Given the description of an element on the screen output the (x, y) to click on. 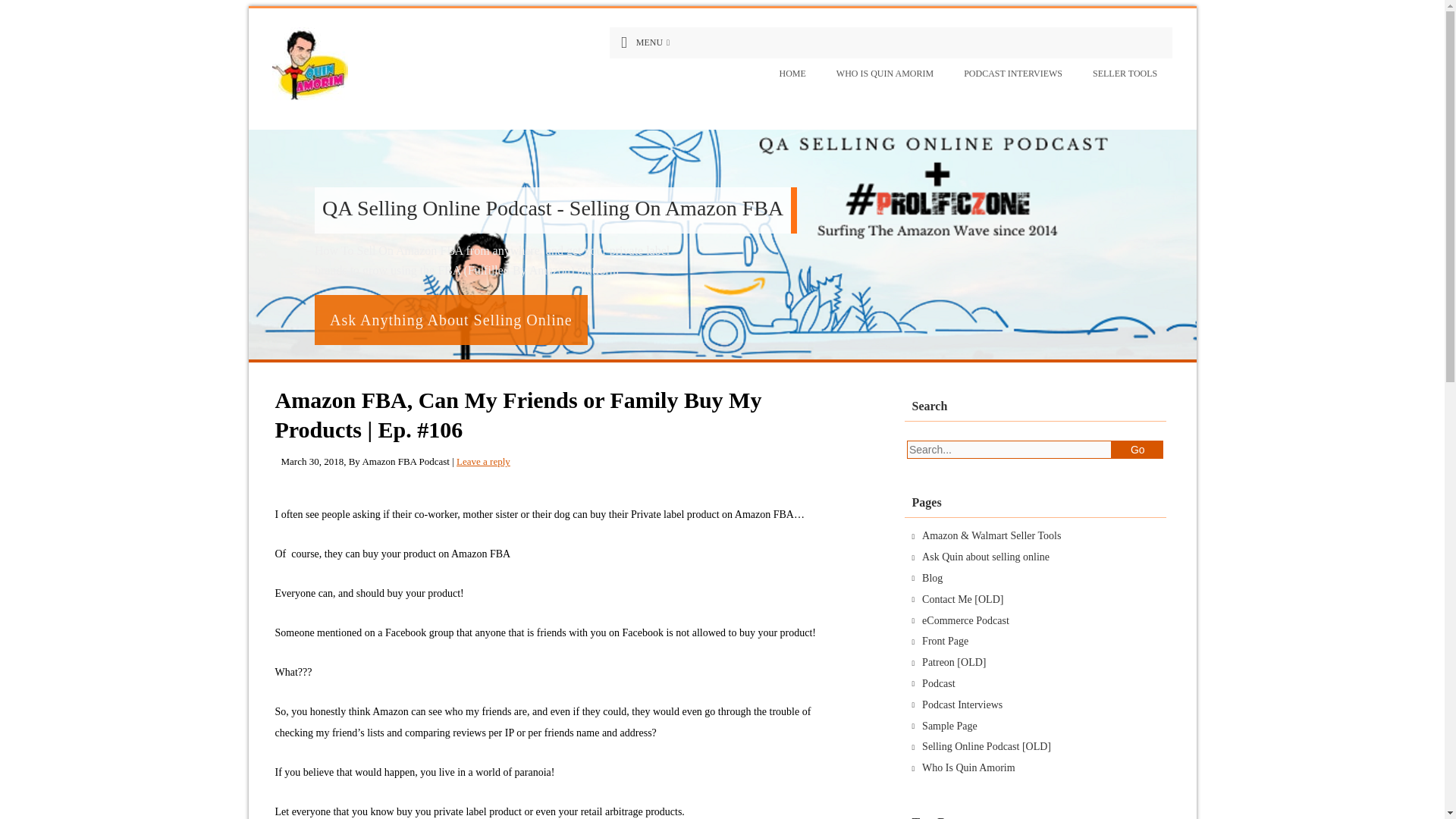
Podcast (938, 683)
Front Page (944, 641)
Go (1137, 449)
PODCAST INTERVIEWS (1013, 74)
Who Is Quin Amorim (967, 767)
Podcast Interviews (962, 704)
SELLER TOOLS (1124, 74)
Ask Anything About Selling Online (451, 319)
eCommerce Podcast (965, 620)
Go (1137, 449)
